Given the description of an element on the screen output the (x, y) to click on. 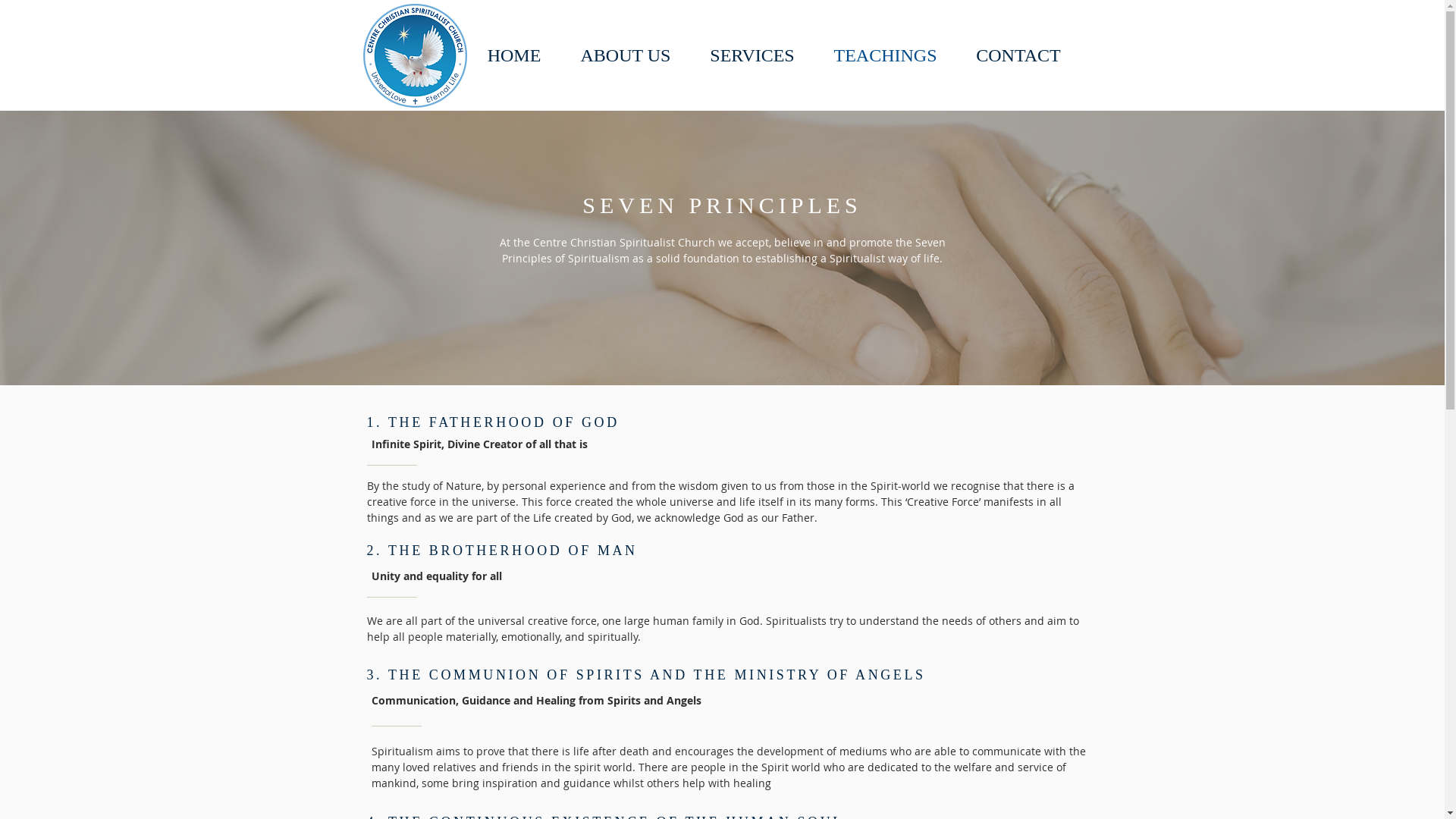
TEACHINGS Element type: text (885, 54)
ABOUT US Element type: text (625, 54)
SERVICES Element type: text (751, 54)
CONTACT Element type: text (1018, 54)
HOME Element type: text (513, 54)
